Given the description of an element on the screen output the (x, y) to click on. 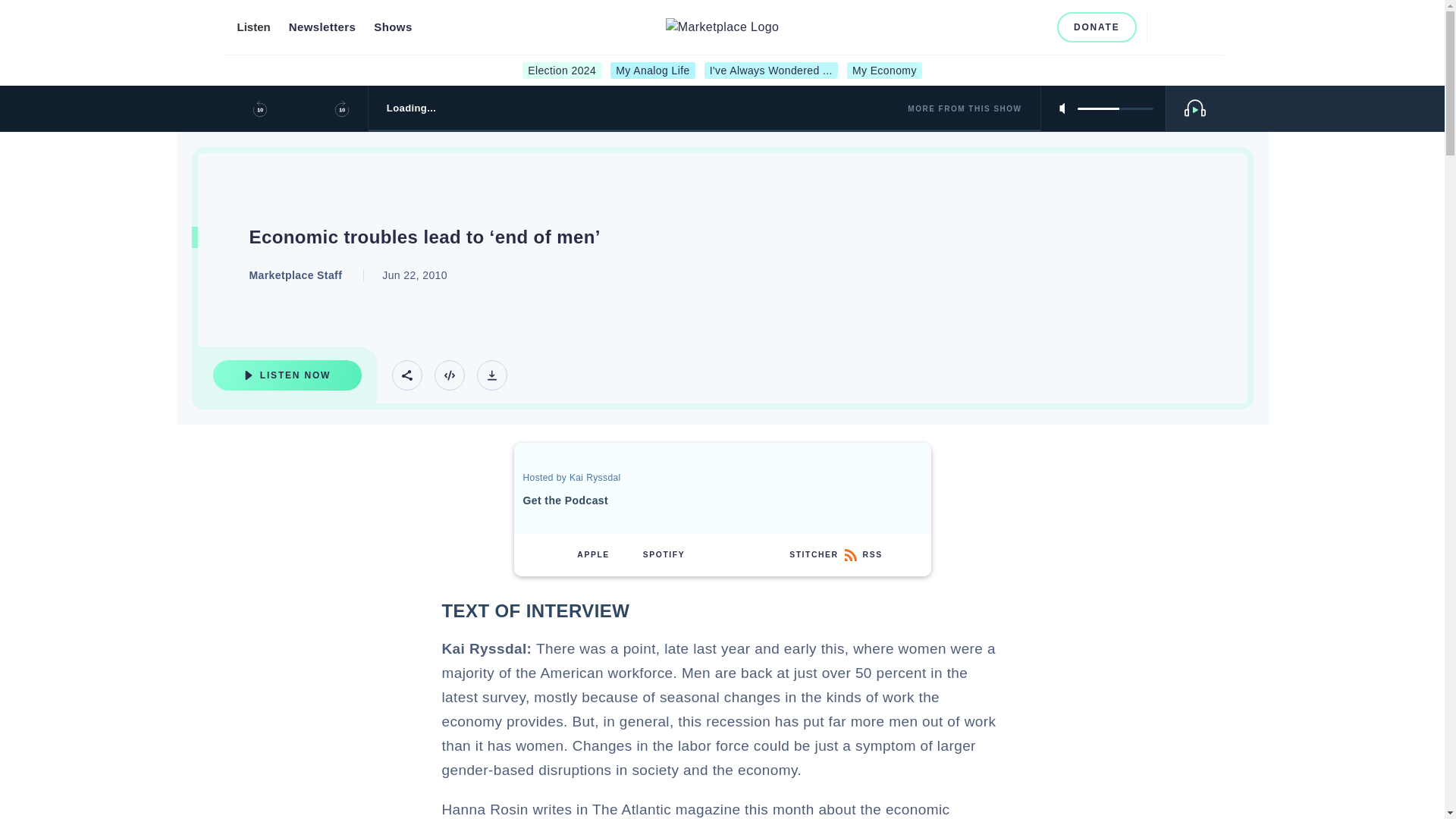
Instagram (985, 27)
Download Track (491, 374)
Menu (1198, 27)
TikTok (1035, 27)
Listen Now (286, 374)
Search (1164, 27)
Youtube (1011, 27)
Listen (252, 26)
Playback 10 Seconds (259, 108)
Shows (393, 26)
volume (1115, 108)
Skip 10 Seconds (341, 108)
5 (1115, 108)
Newsletters (322, 27)
